Given the description of an element on the screen output the (x, y) to click on. 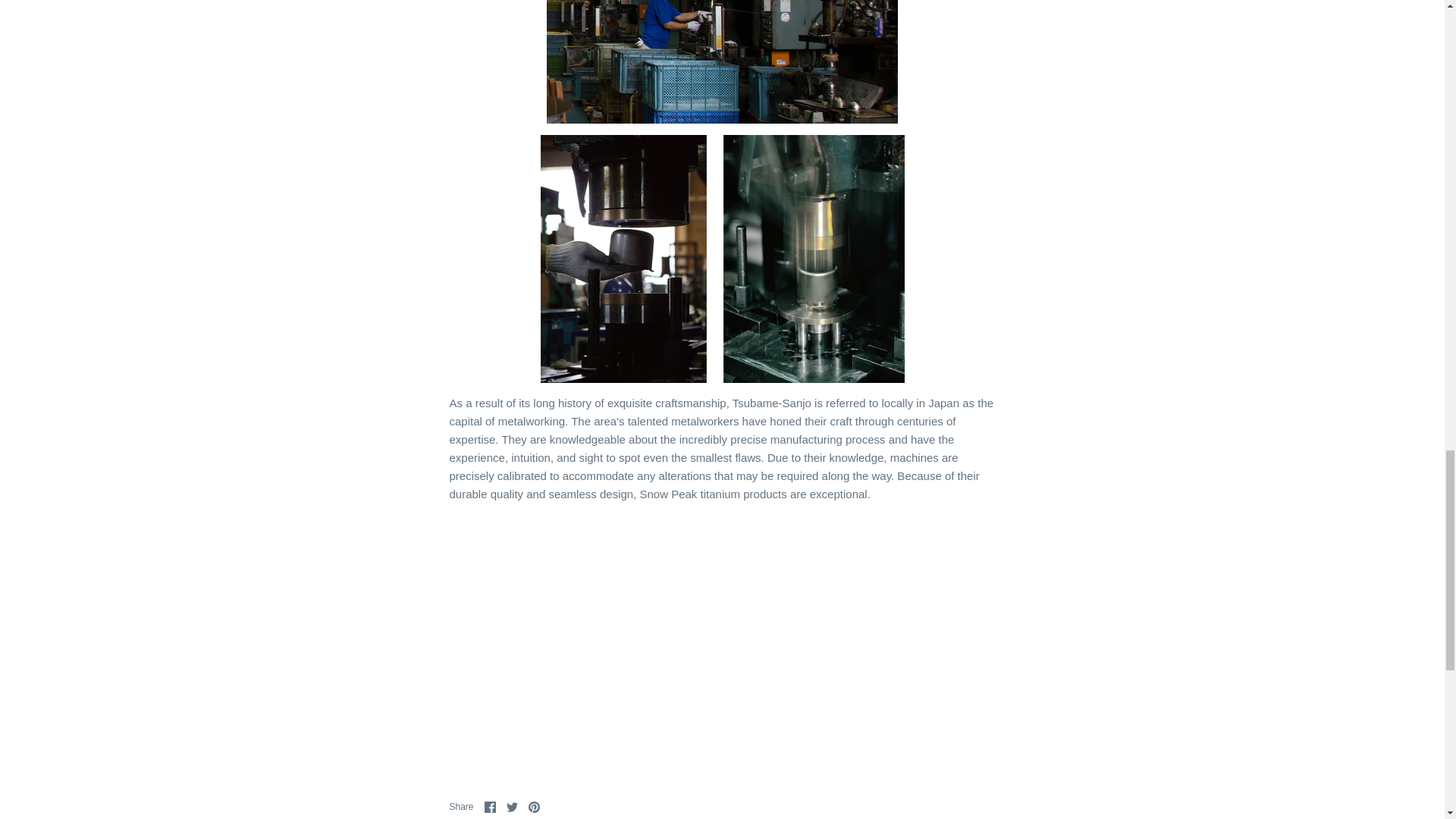
YouTube video player (721, 634)
Twitter (512, 807)
Facebook (490, 807)
Pinterest (534, 807)
